Given the description of an element on the screen output the (x, y) to click on. 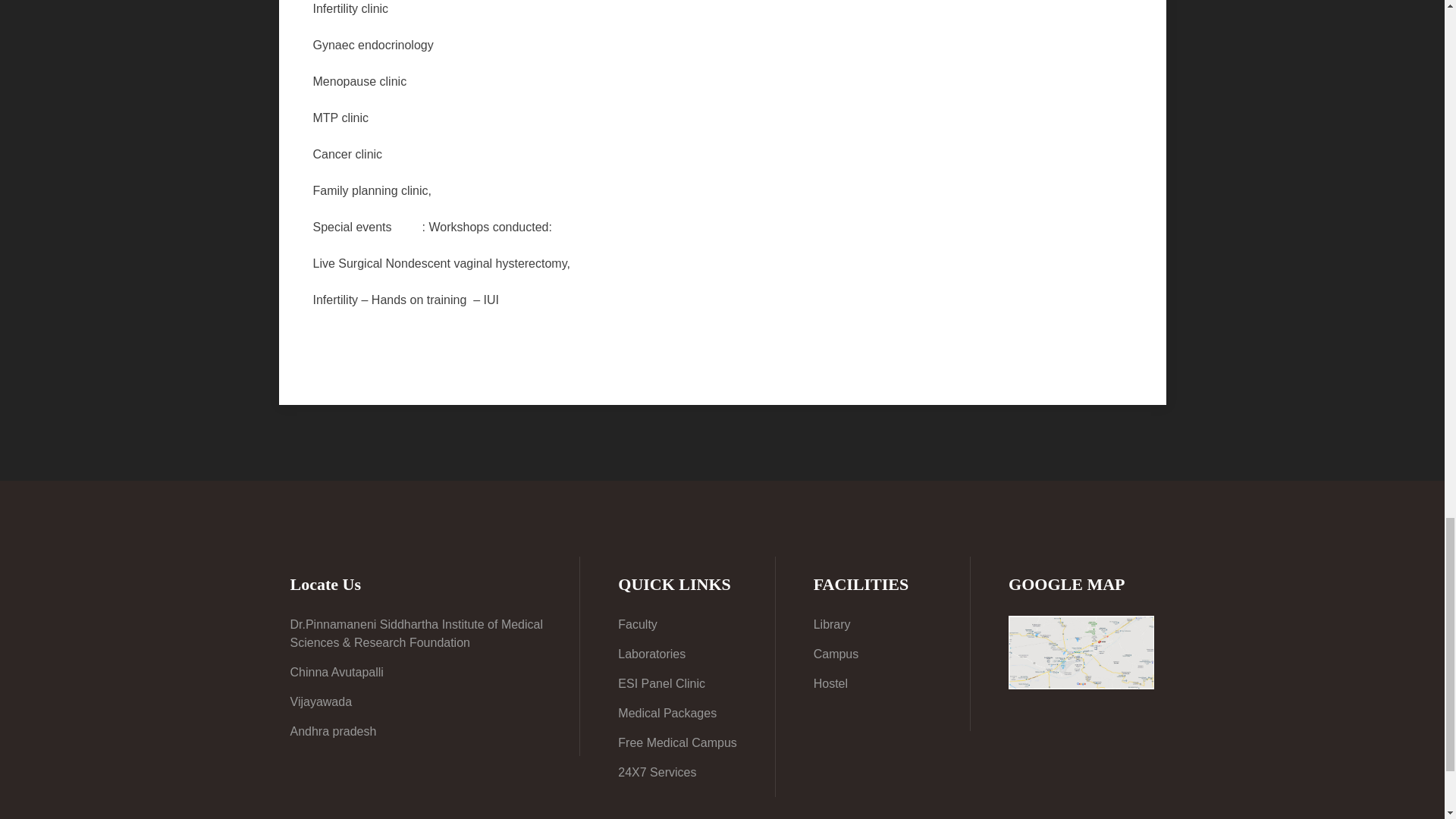
GOOGLE MAP (1081, 652)
